Given the description of an element on the screen output the (x, y) to click on. 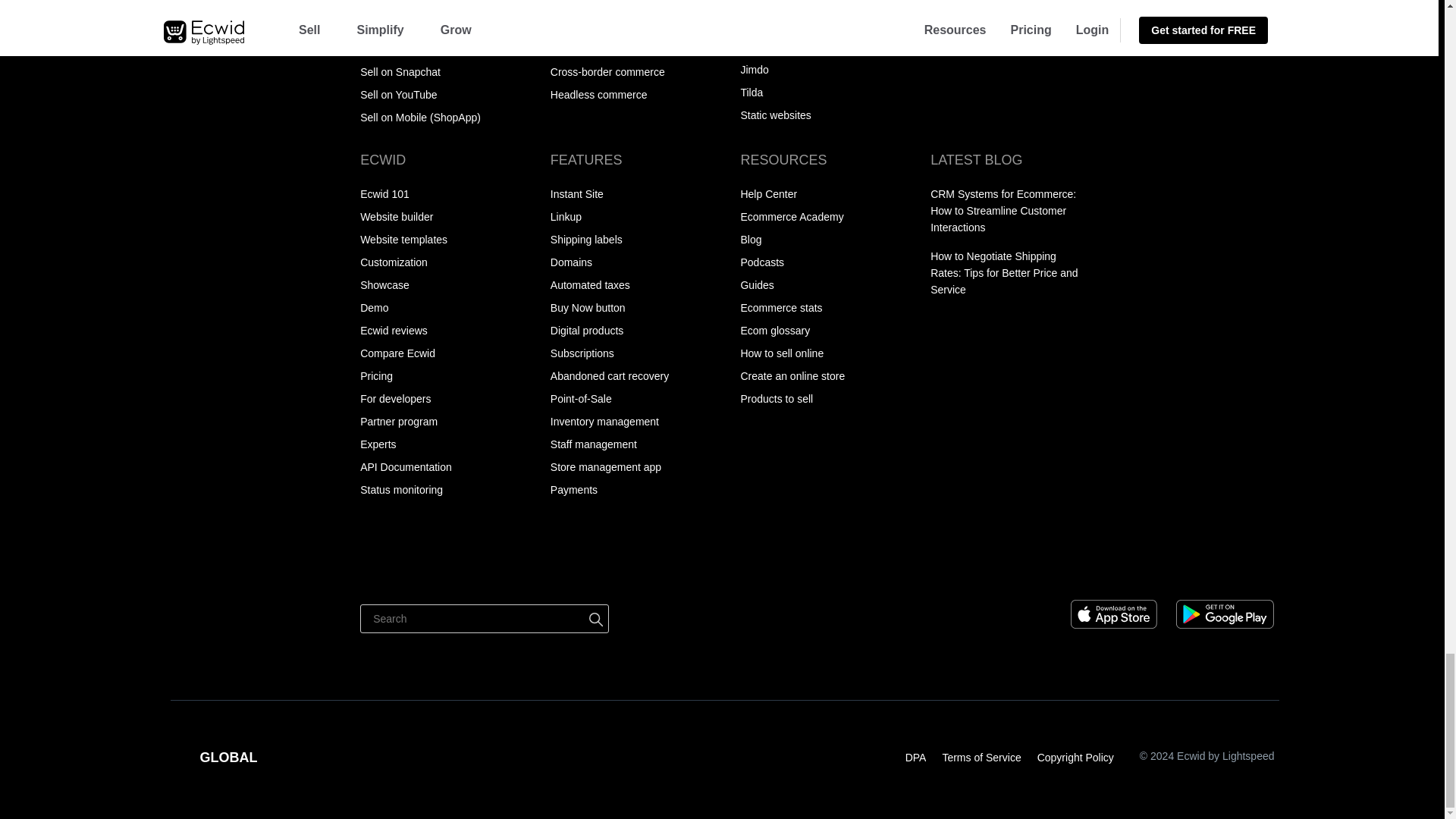
Pinterest (1147, 566)
Twitter (1203, 566)
Ecwid podcast (1119, 566)
Instagram (1231, 566)
Search (483, 618)
Youtube (1260, 566)
Facebook (1175, 566)
Ecwid blog (1091, 566)
